Given the description of an element on the screen output the (x, y) to click on. 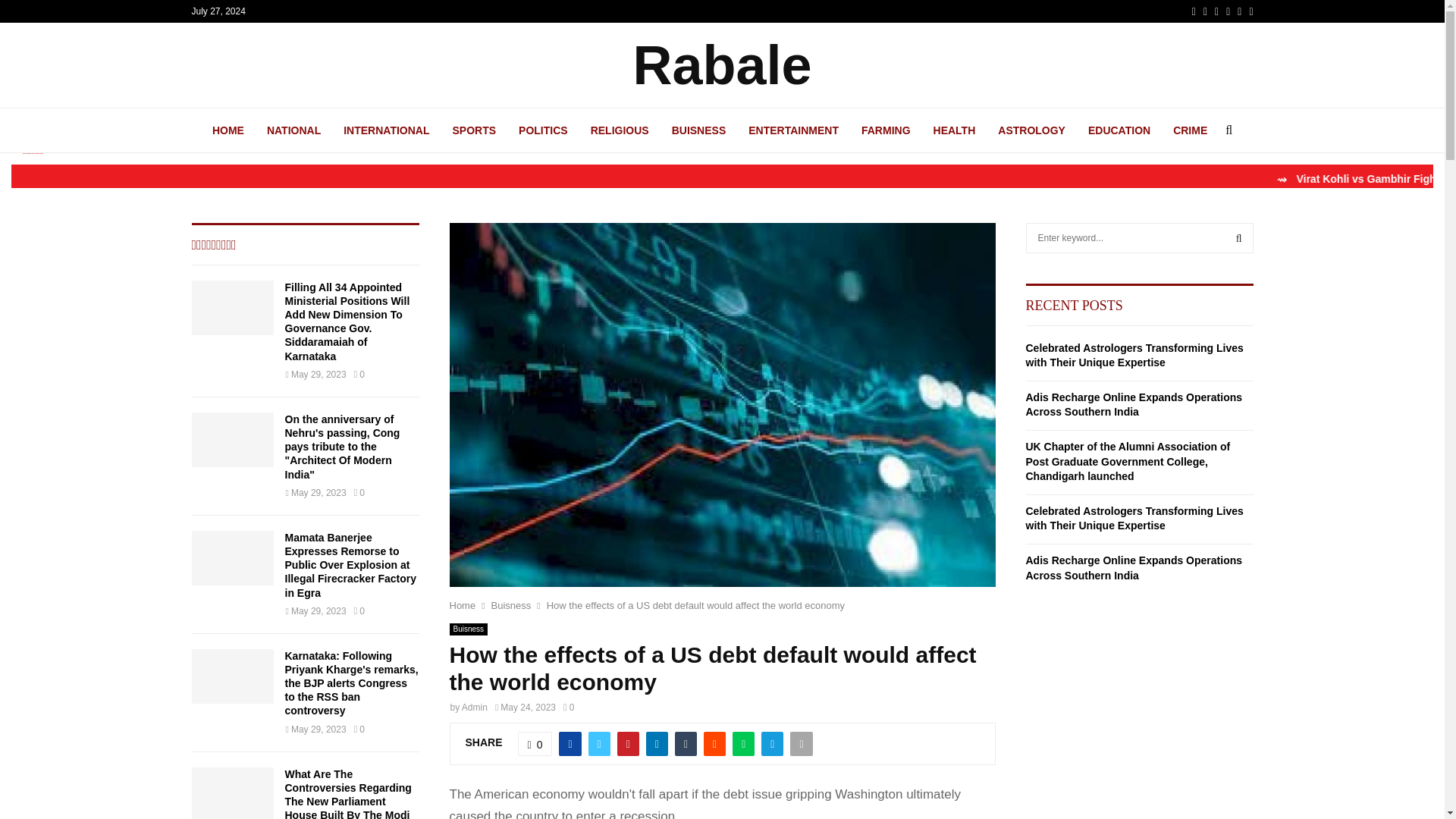
Like (535, 743)
HEALTH (954, 130)
SPORTS (474, 130)
HOME (228, 130)
Instagram (1216, 11)
ASTROLOGY (1031, 130)
INTERNATIONAL (386, 130)
Email (1239, 11)
Buisness (511, 604)
EDUCATION (1118, 130)
Facebook (1193, 11)
FARMING (886, 130)
Twitter (1205, 11)
Facebook (1193, 11)
